Given the description of an element on the screen output the (x, y) to click on. 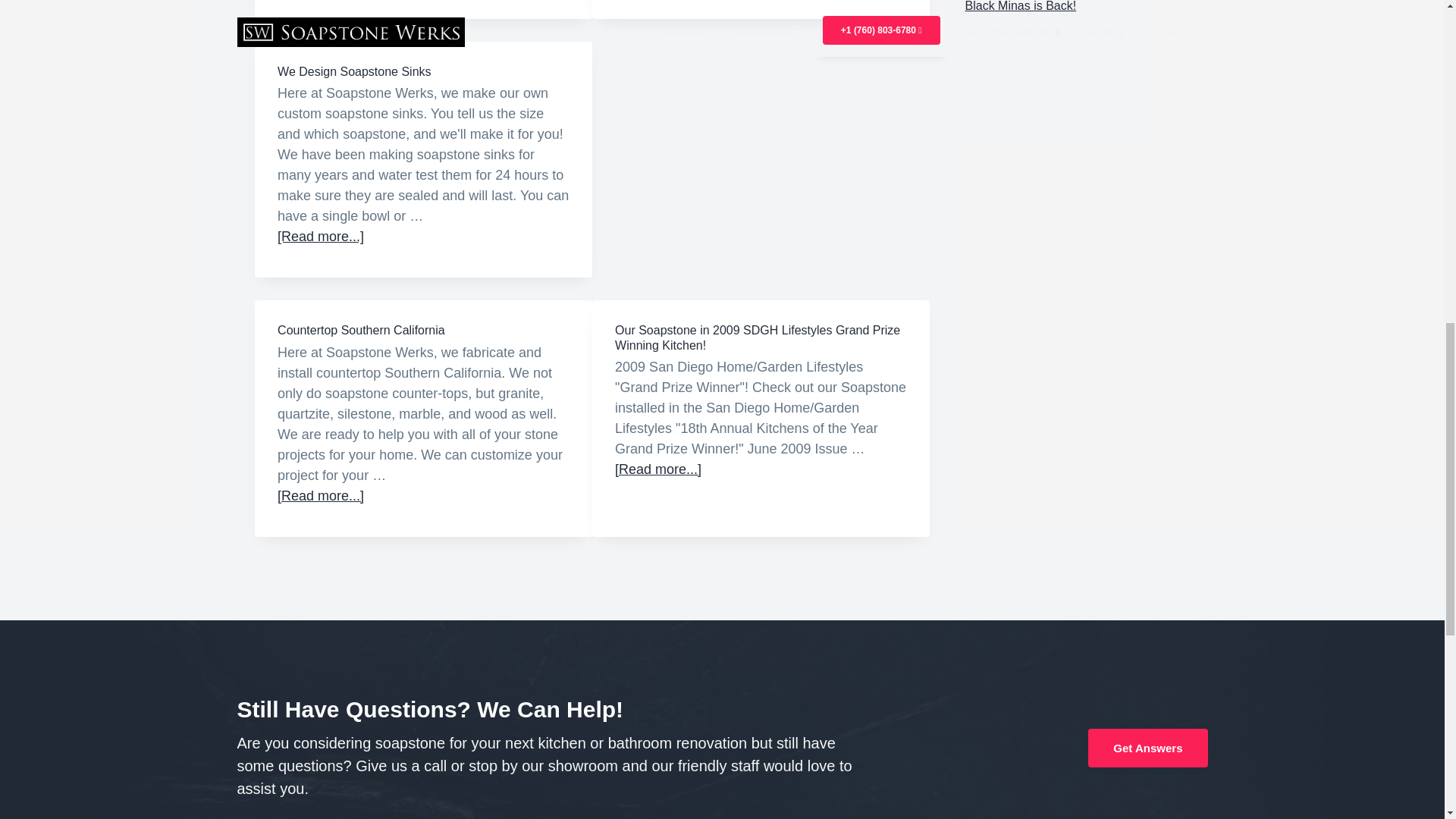
We Design Soapstone Sinks (354, 71)
Countertop Southern California (361, 329)
